Given the description of an element on the screen output the (x, y) to click on. 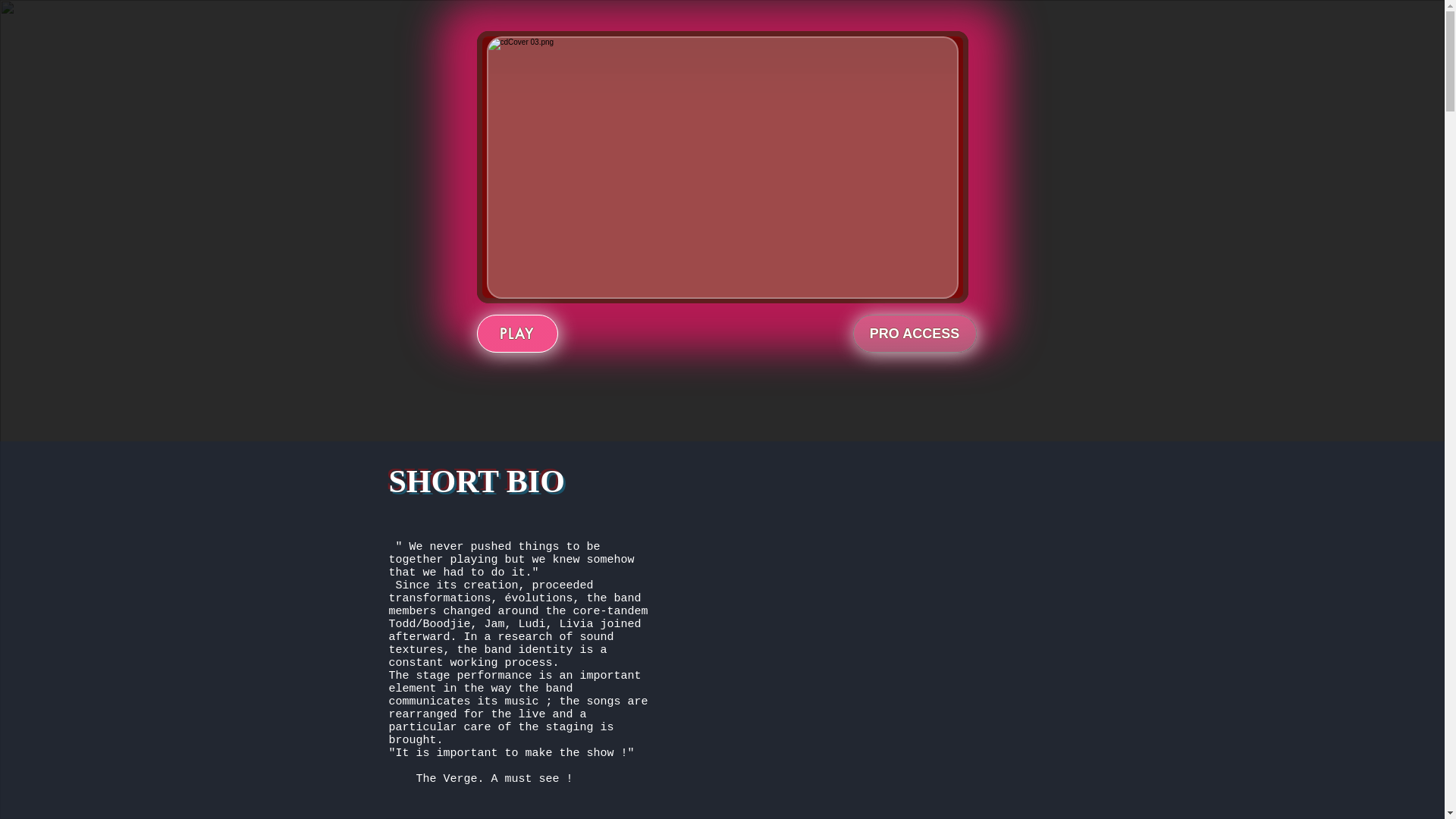
PRO ACCESS Element type: text (913, 333)
PLAY Element type: text (516, 333)
